Given the description of an element on the screen output the (x, y) to click on. 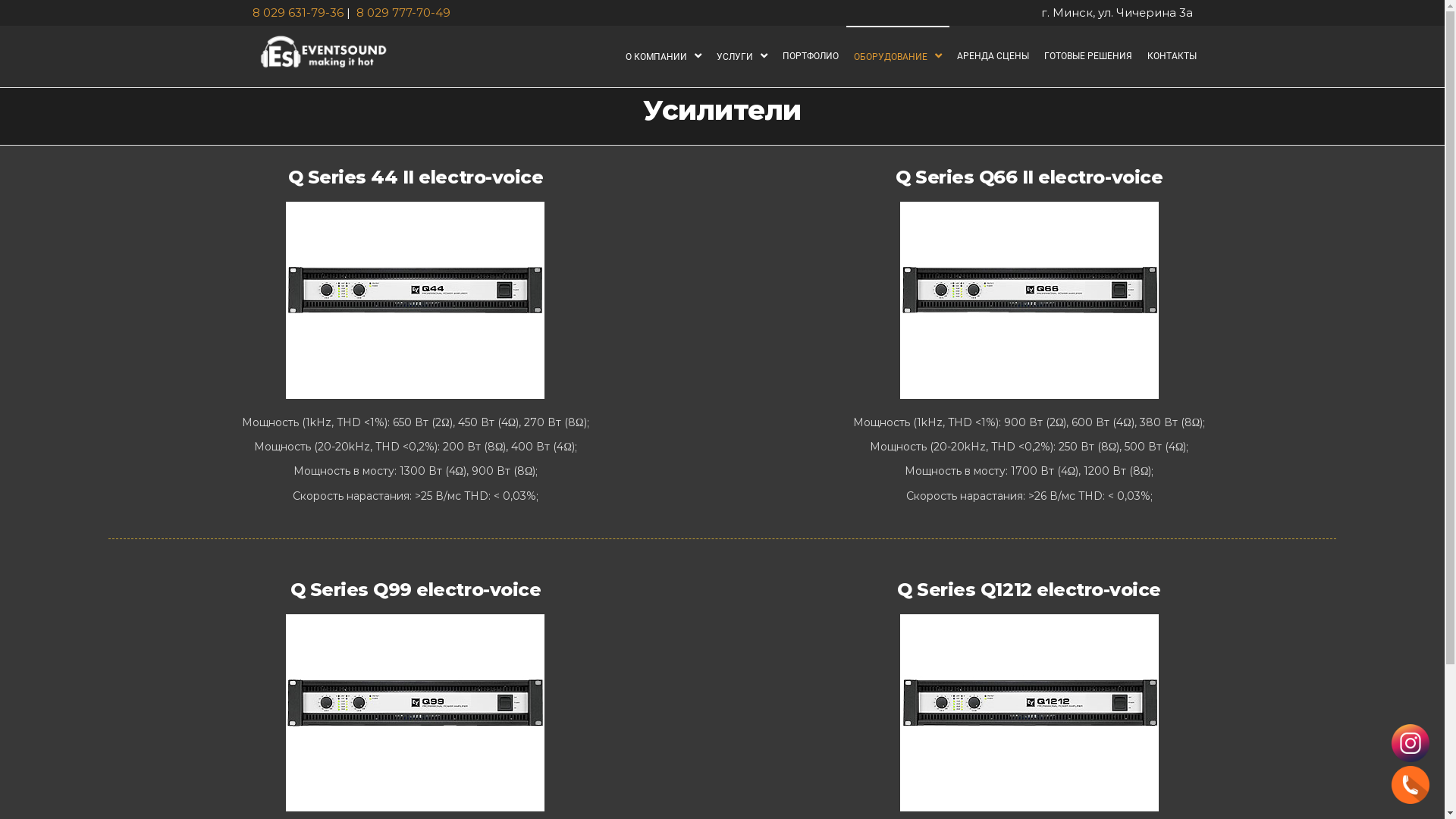
 8 029 777-70-49  Element type: text (403, 12)
8 029 631-79-36 Element type: text (296, 12)
EVENTSOUND Element type: text (481, 64)
